Given the description of an element on the screen output the (x, y) to click on. 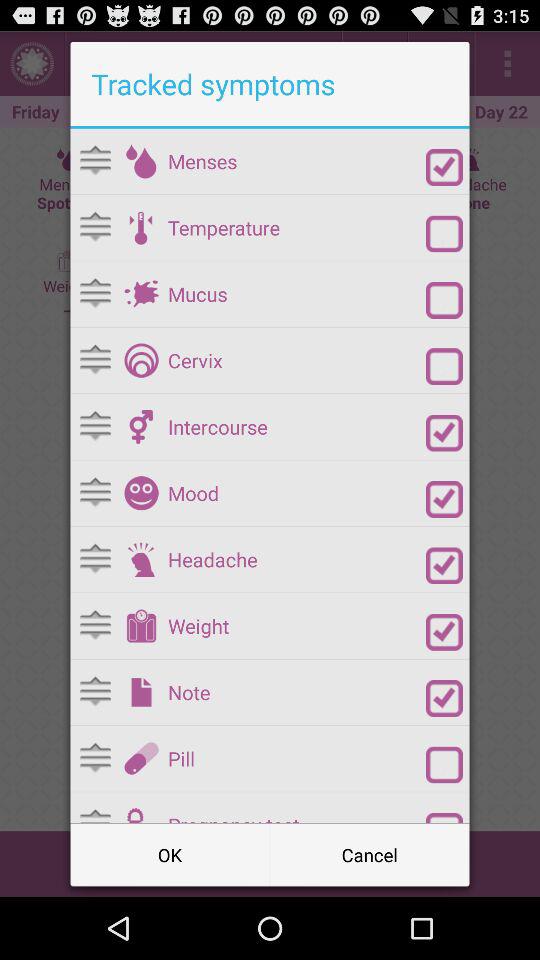
toggle mucus as symptom (141, 294)
